Given the description of an element on the screen output the (x, y) to click on. 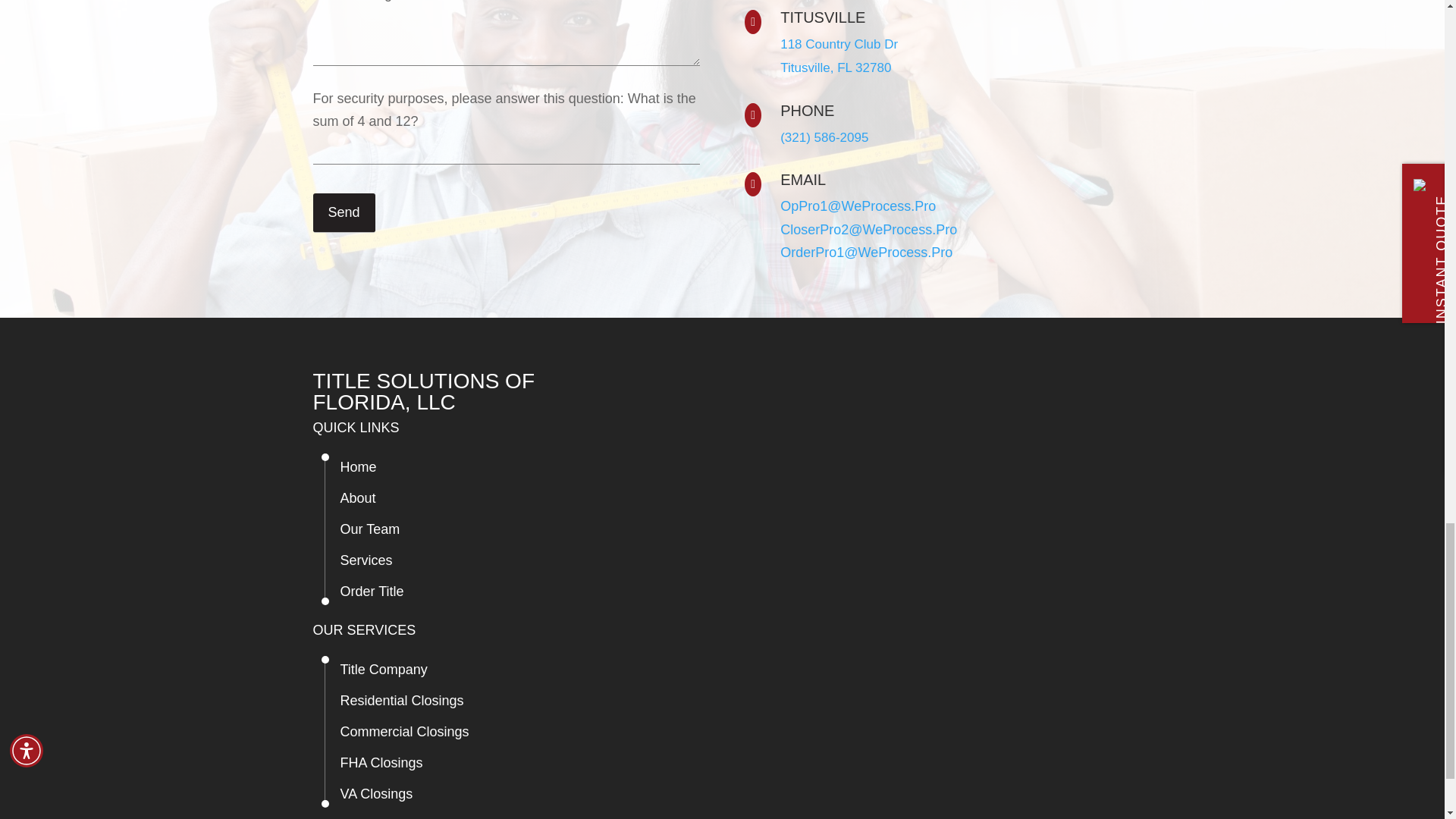
Home (357, 467)
Call Us (823, 137)
Titusville Google Maps (839, 56)
About (357, 498)
Send (343, 212)
